Given the description of an element on the screen output the (x, y) to click on. 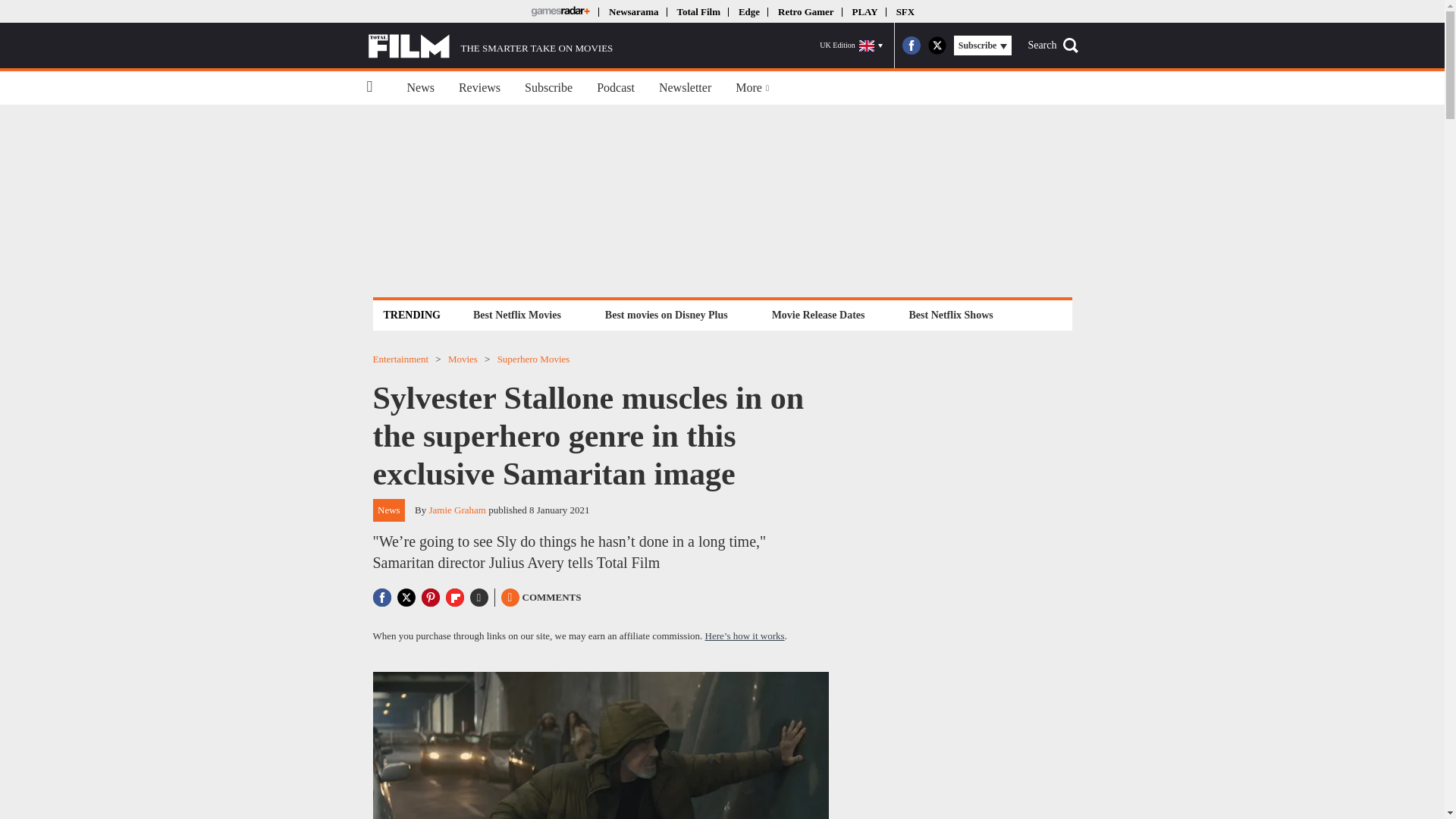
PLAY (864, 11)
Subscribe (548, 87)
THE SMARTER TAKE ON MOVIES (489, 44)
SFX (905, 11)
Best Netflix Movies (516, 314)
Movie Release Dates (818, 314)
Newsarama (633, 11)
Reviews (479, 87)
News (419, 87)
Retro Gamer (805, 11)
